Given the description of an element on the screen output the (x, y) to click on. 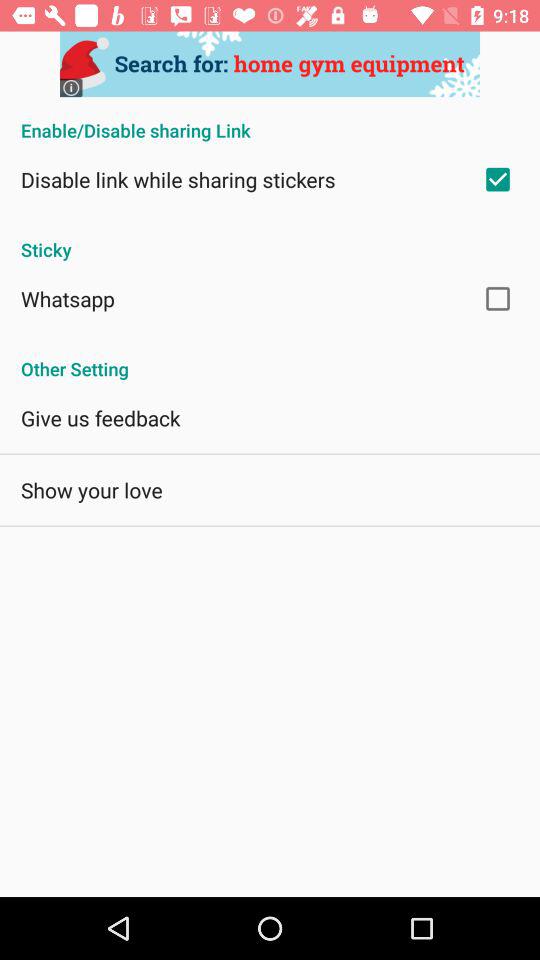
open other setting item (270, 358)
